Given the description of an element on the screen output the (x, y) to click on. 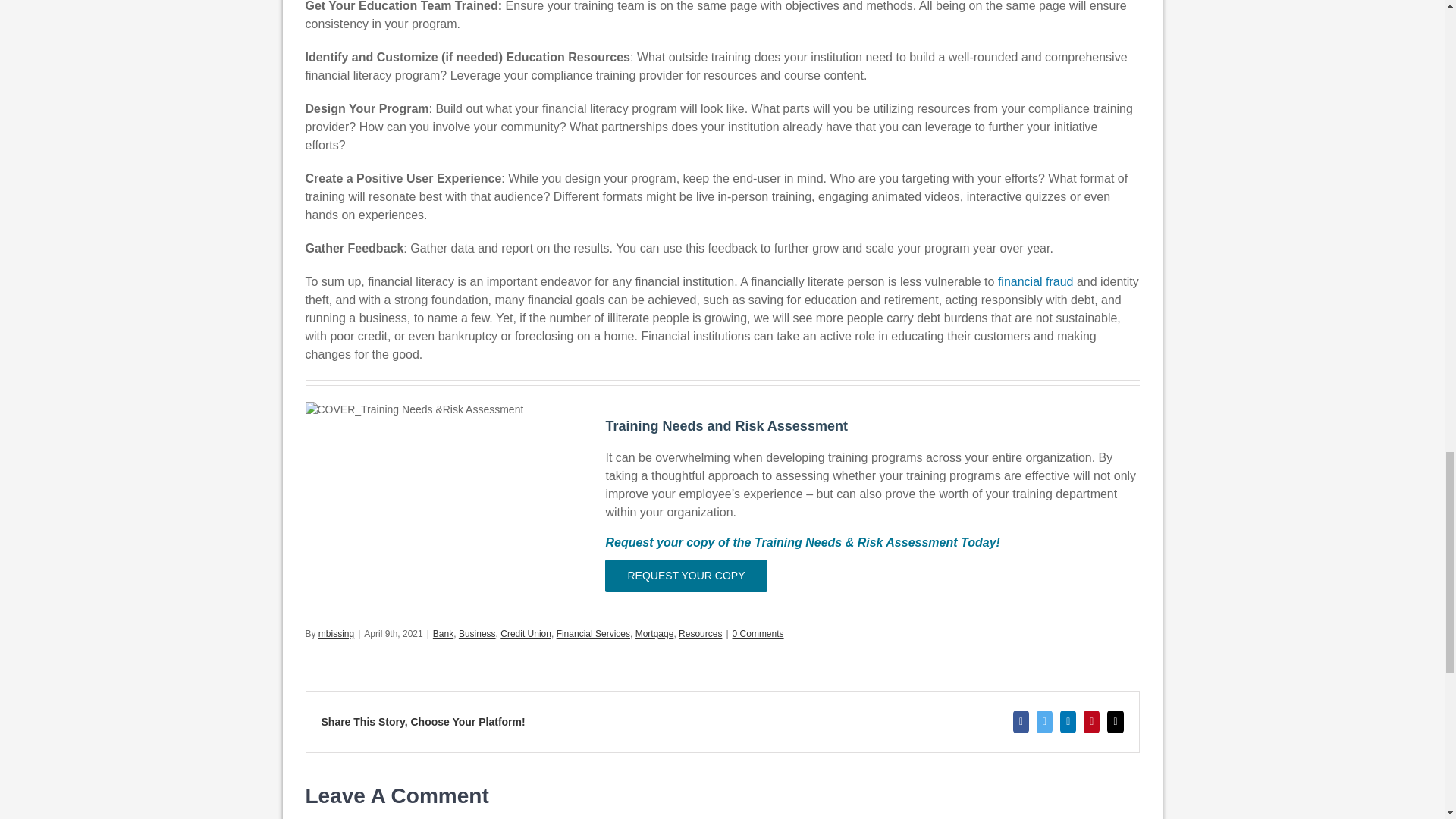
Posts by mbissing (335, 633)
